Given the description of an element on the screen output the (x, y) to click on. 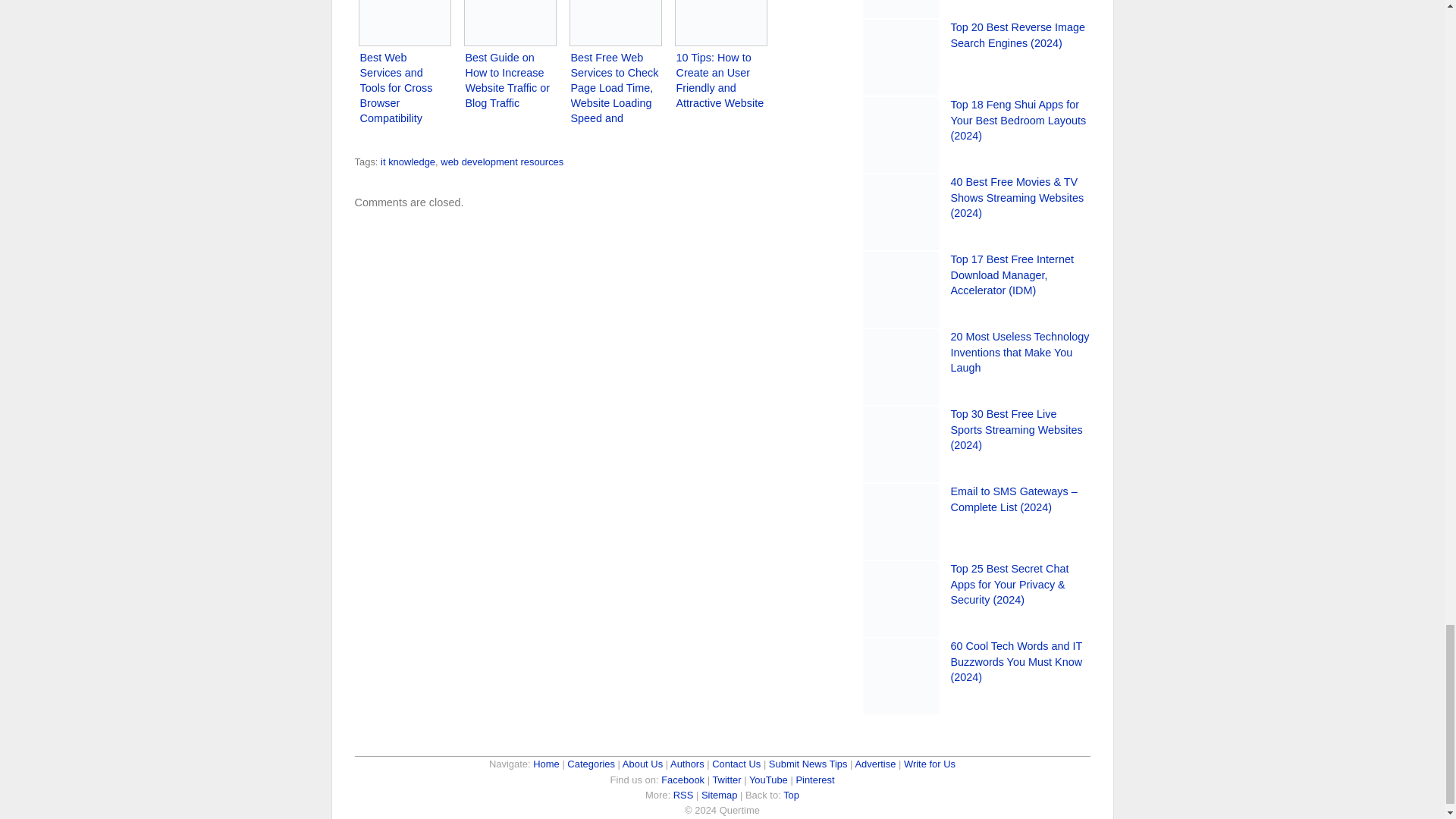
web development resources (502, 161)
it knowledge (407, 161)
